Given the description of an element on the screen output the (x, y) to click on. 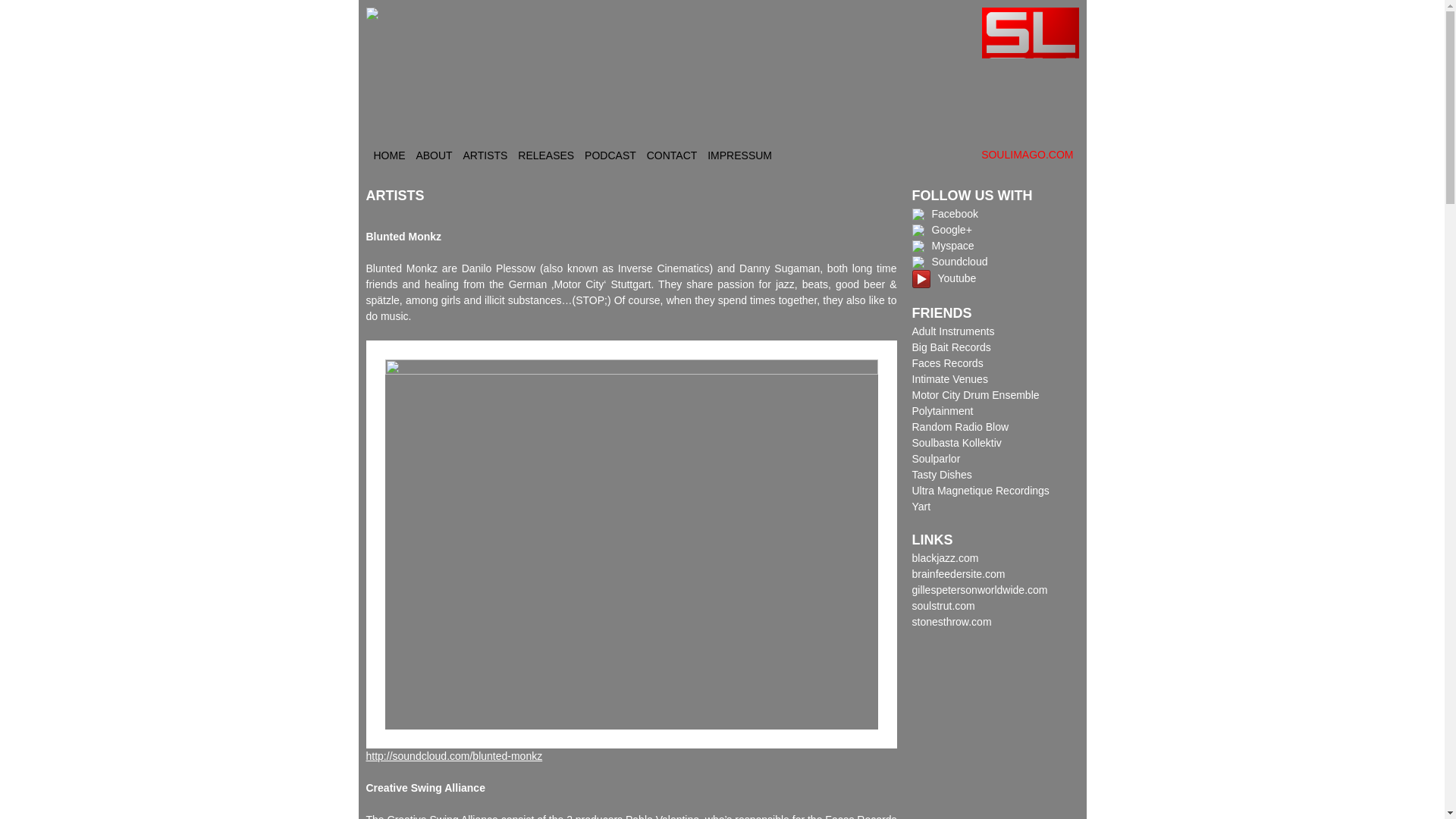
Yart (920, 506)
ARTISTS (485, 155)
gillespetersonworldwide.com (978, 589)
Big Bait Records (950, 346)
stonesthrow.com (951, 621)
Motor City Drum Ensemble (975, 395)
Ultra Magnetique Recordings (979, 490)
Soulparlor (935, 458)
Youtube (943, 277)
Random Radio Blow (960, 426)
